Given the description of an element on the screen output the (x, y) to click on. 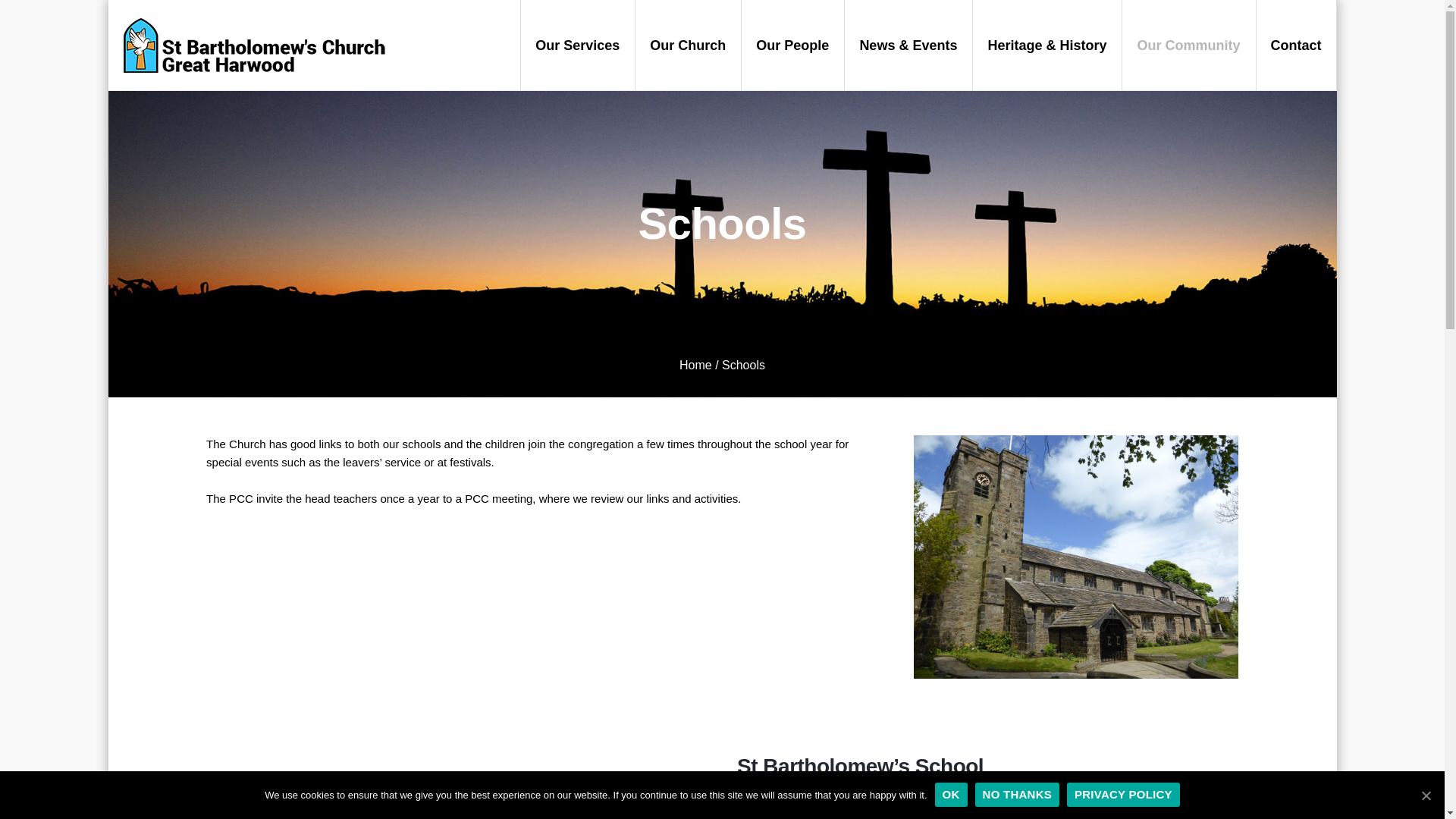
Our Community (1188, 45)
Contact (1295, 45)
Home (695, 364)
Our People (792, 45)
Our Services (576, 45)
Our Church (687, 45)
